Given the description of an element on the screen output the (x, y) to click on. 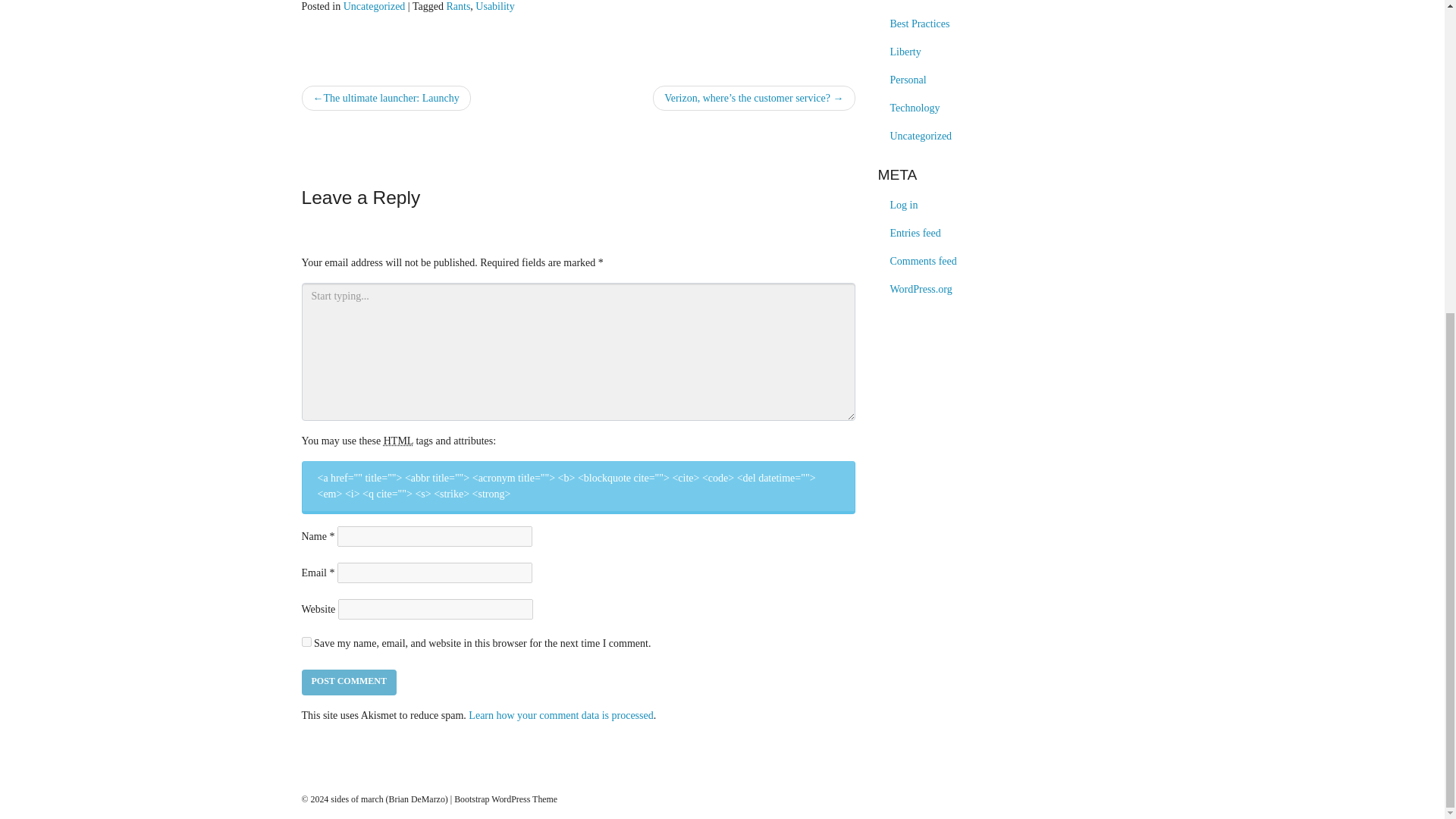
Technology (914, 108)
WordPress Technical Support (505, 798)
Personal (908, 80)
Usability (494, 6)
Post Comment (348, 682)
HyperText Markup Language (398, 440)
Rants (457, 6)
Best Practices (919, 23)
Programming, systems engineering, and all things IT (914, 108)
Learn how your comment data is processed (560, 715)
Liberty (905, 51)
About me, my life, and my family (908, 80)
What you should do, and why. (919, 23)
yes (306, 642)
